Given the description of an element on the screen output the (x, y) to click on. 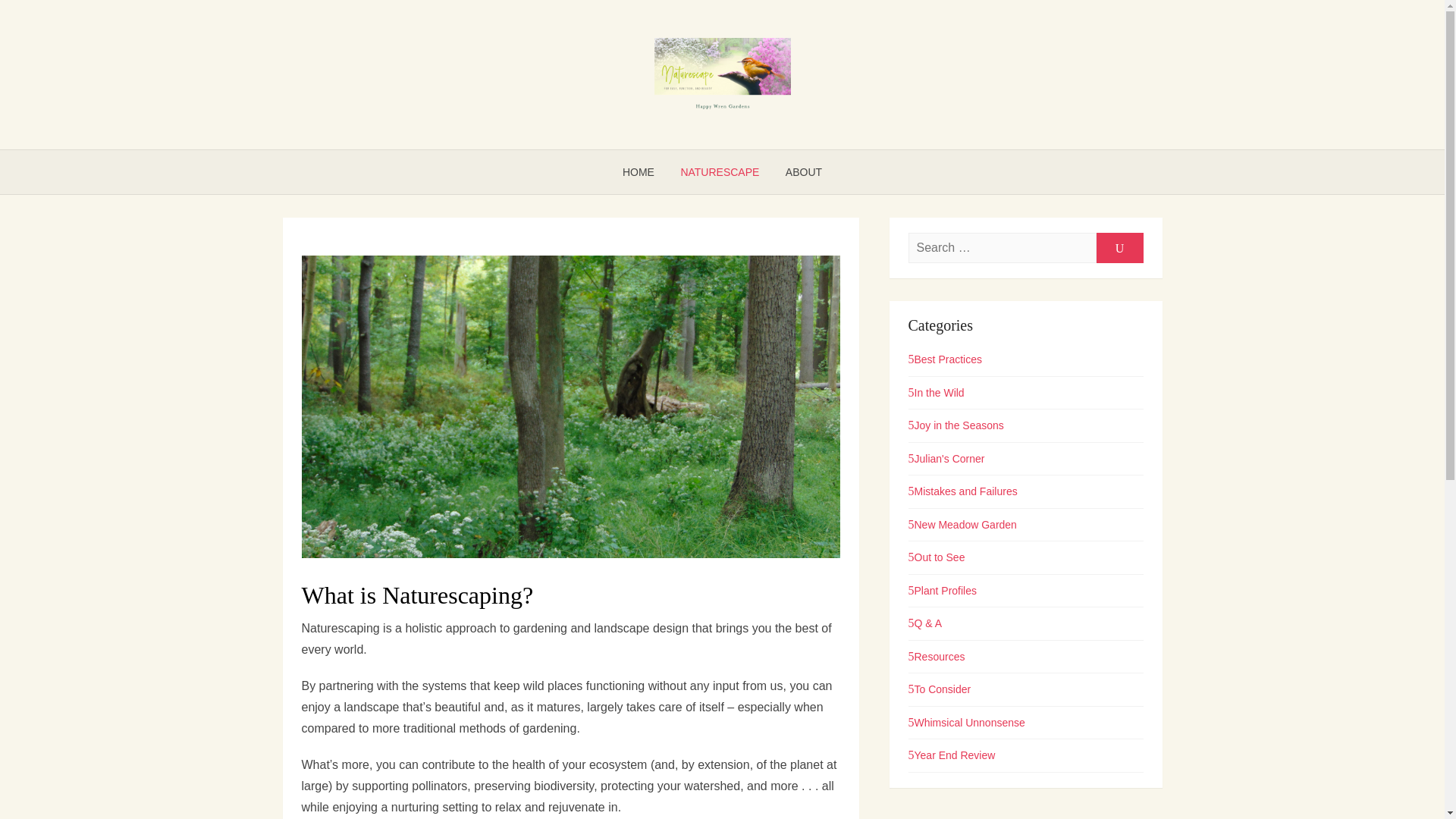
Out to See (936, 557)
In the Wild (935, 392)
New Meadow Garden (962, 524)
SEARCH (1119, 247)
NATURESCAPE (719, 171)
Best Practices (944, 358)
Whimsical Unnonsense (966, 722)
Julian's Corner (946, 458)
To Consider (939, 689)
Year End Review (951, 755)
